Given the description of an element on the screen output the (x, y) to click on. 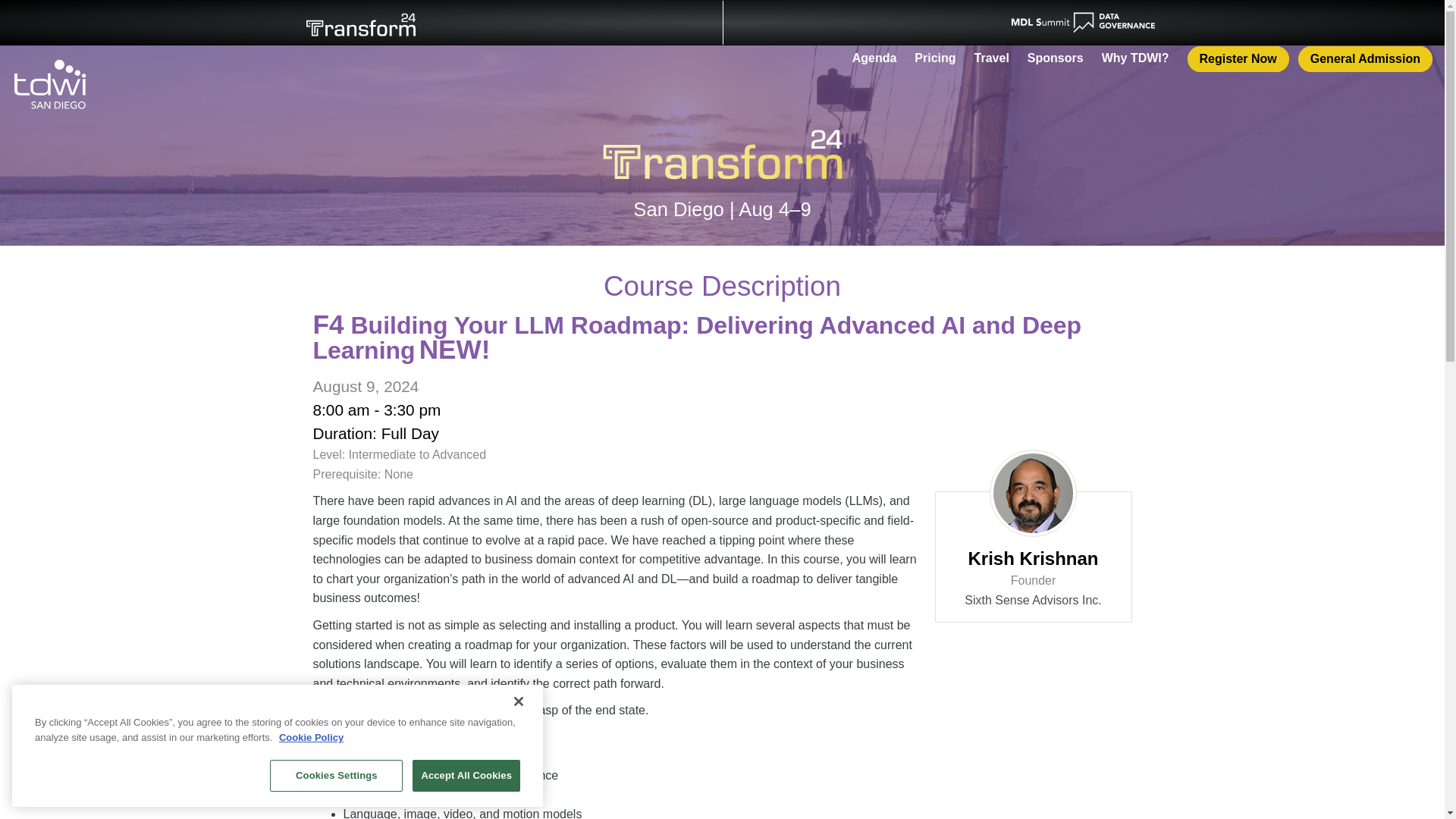
Why TDWI? (1135, 58)
TDWI Conferences (722, 10)
Register Now (1238, 58)
Agenda (874, 58)
Krish Krishnan (1032, 557)
Live Chat Button (1414, 788)
General Admission (1365, 58)
TDWI Transform (722, 150)
Travel (991, 58)
TDWI San Diego (49, 83)
TDWI Transform 2024 (361, 22)
Pricing (934, 58)
Sponsors (1055, 58)
